Given the description of an element on the screen output the (x, y) to click on. 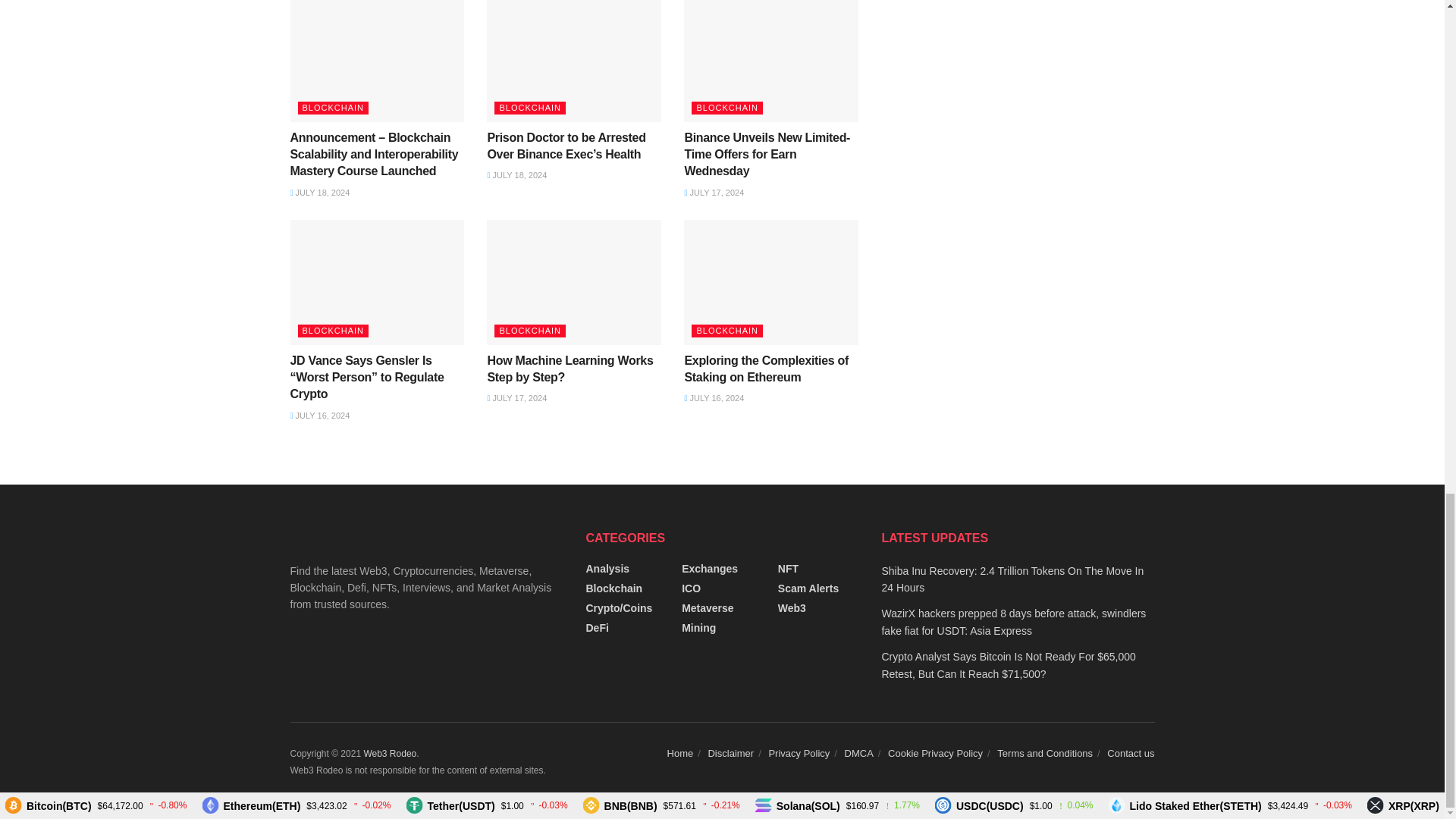
Web3 Rodeo (389, 753)
